Given the description of an element on the screen output the (x, y) to click on. 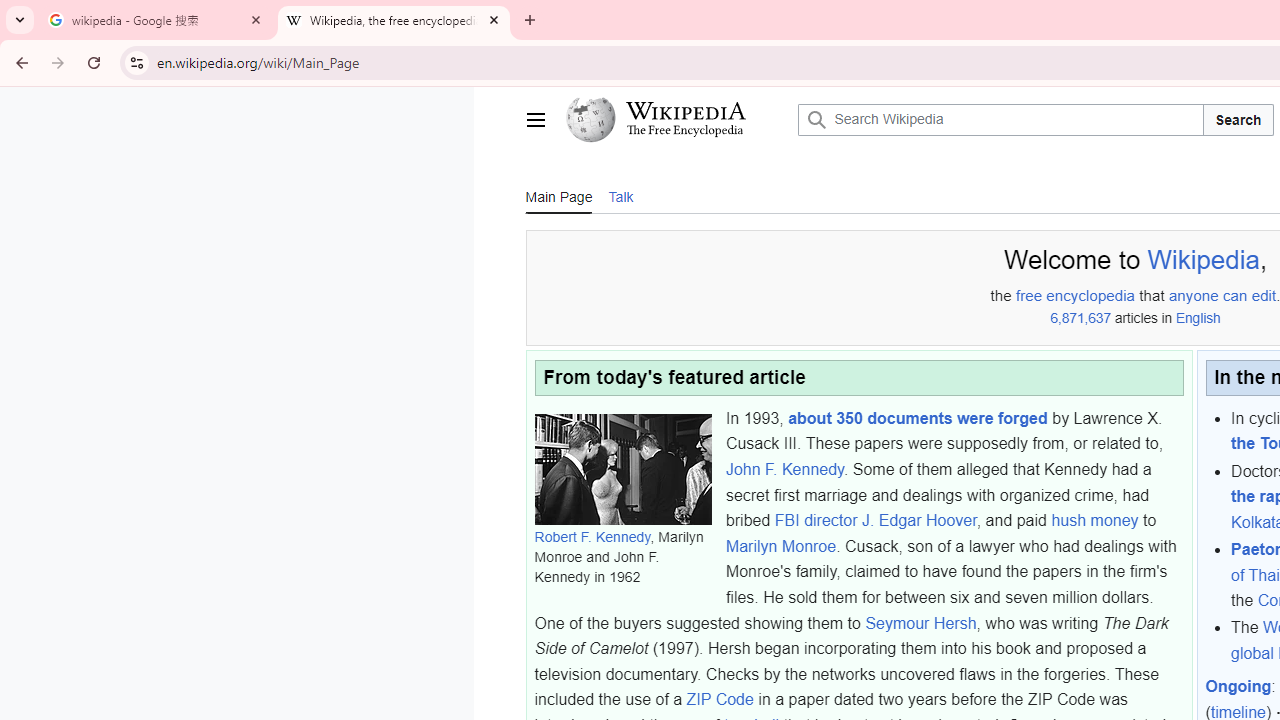
AutomationID: ca-nstab-main (558, 195)
Wikipedia (1202, 260)
free (1029, 296)
Talk (620, 196)
anyone can edit (1222, 296)
Wikipedia (685, 111)
